Given the description of an element on the screen output the (x, y) to click on. 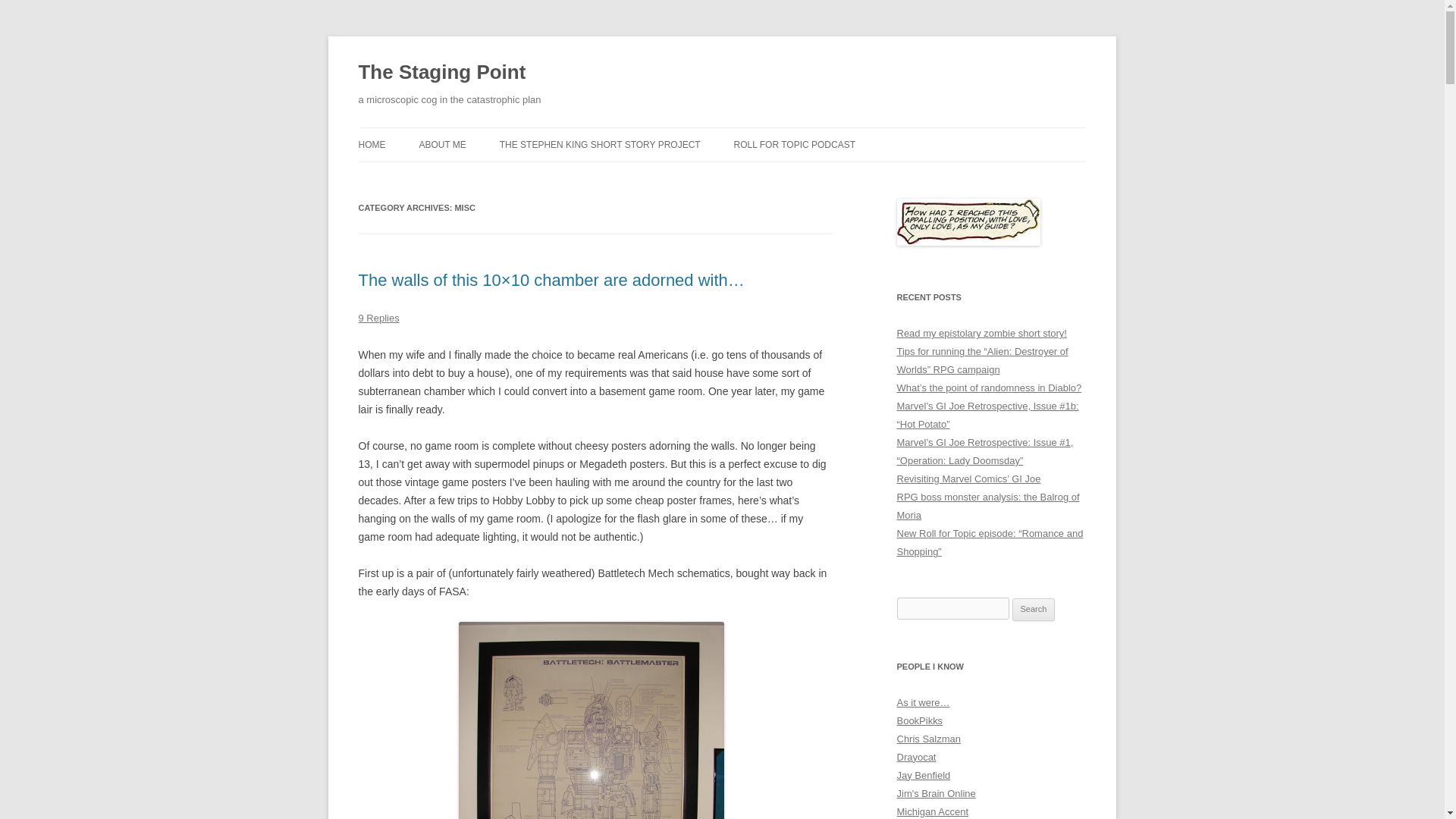
9 Replies (378, 317)
battlemaster (590, 720)
ABOUT ME (442, 144)
THE STEPHEN KING SHORT STORY PROJECT (599, 144)
The Staging Point (441, 72)
The Staging Point (441, 72)
ROLL FOR TOPIC PODCAST (794, 144)
Search (1033, 609)
